Given the description of an element on the screen output the (x, y) to click on. 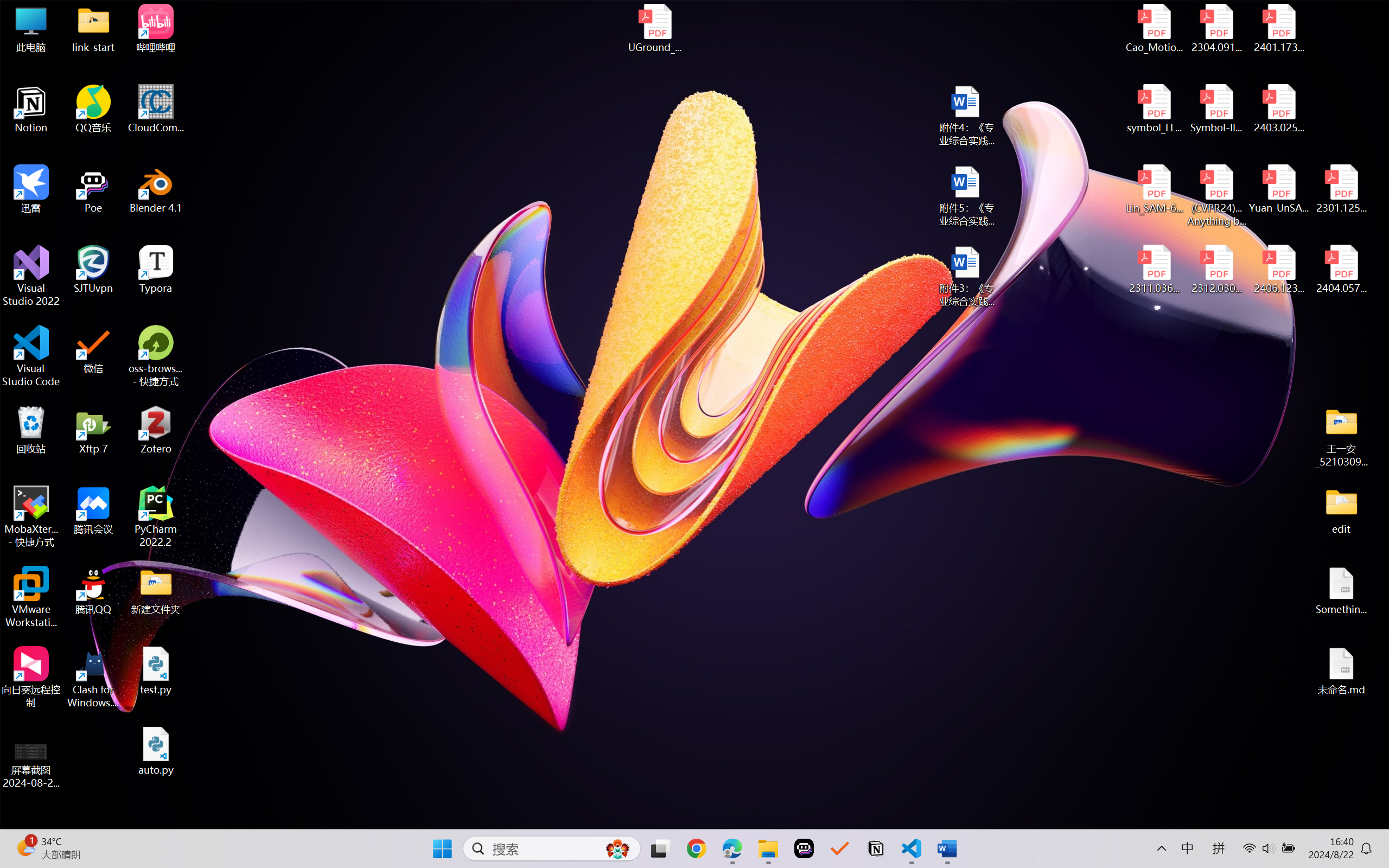
UGround_paper.pdf (654, 28)
Blender 4.1 (156, 189)
Notion (875, 848)
2301.12597v3.pdf (1340, 189)
2311.03658v2.pdf (1154, 269)
Poe (804, 848)
edit (1340, 510)
2404.05719v1.pdf (1340, 269)
2406.12373v2.pdf (1278, 269)
